Given the description of an element on the screen output the (x, y) to click on. 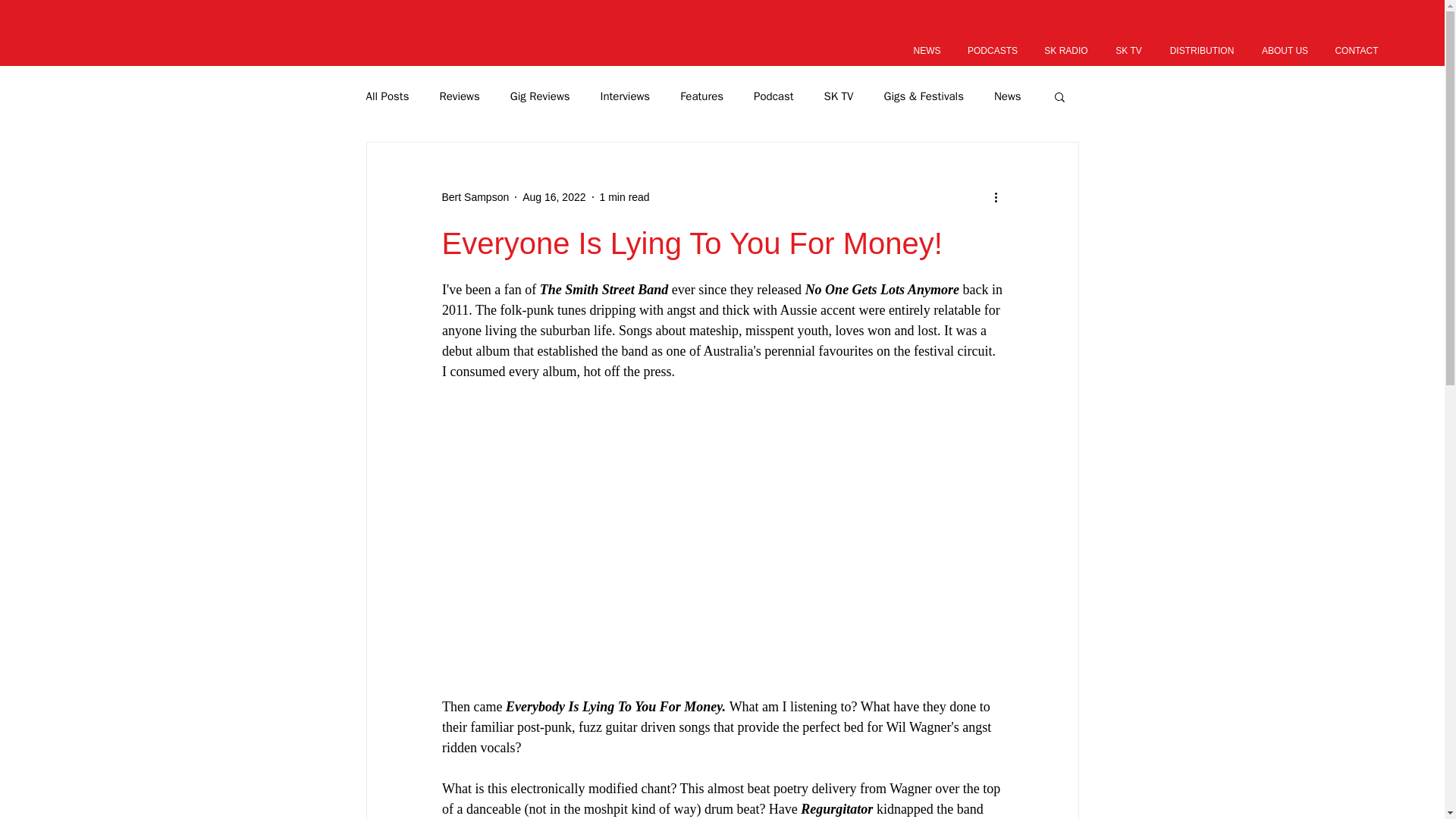
1 min read (624, 196)
Bert Sampson (474, 197)
ABOUT US (1284, 50)
SK RADIO (1065, 50)
DISTRIBUTION (1201, 50)
All Posts (387, 96)
Features (701, 96)
NEWS (926, 50)
Interviews (624, 96)
SK TV (838, 96)
PODCASTS (992, 50)
CONTACT (1356, 50)
Aug 16, 2022 (553, 196)
News (1008, 96)
Podcast (773, 96)
